Given the description of an element on the screen output the (x, y) to click on. 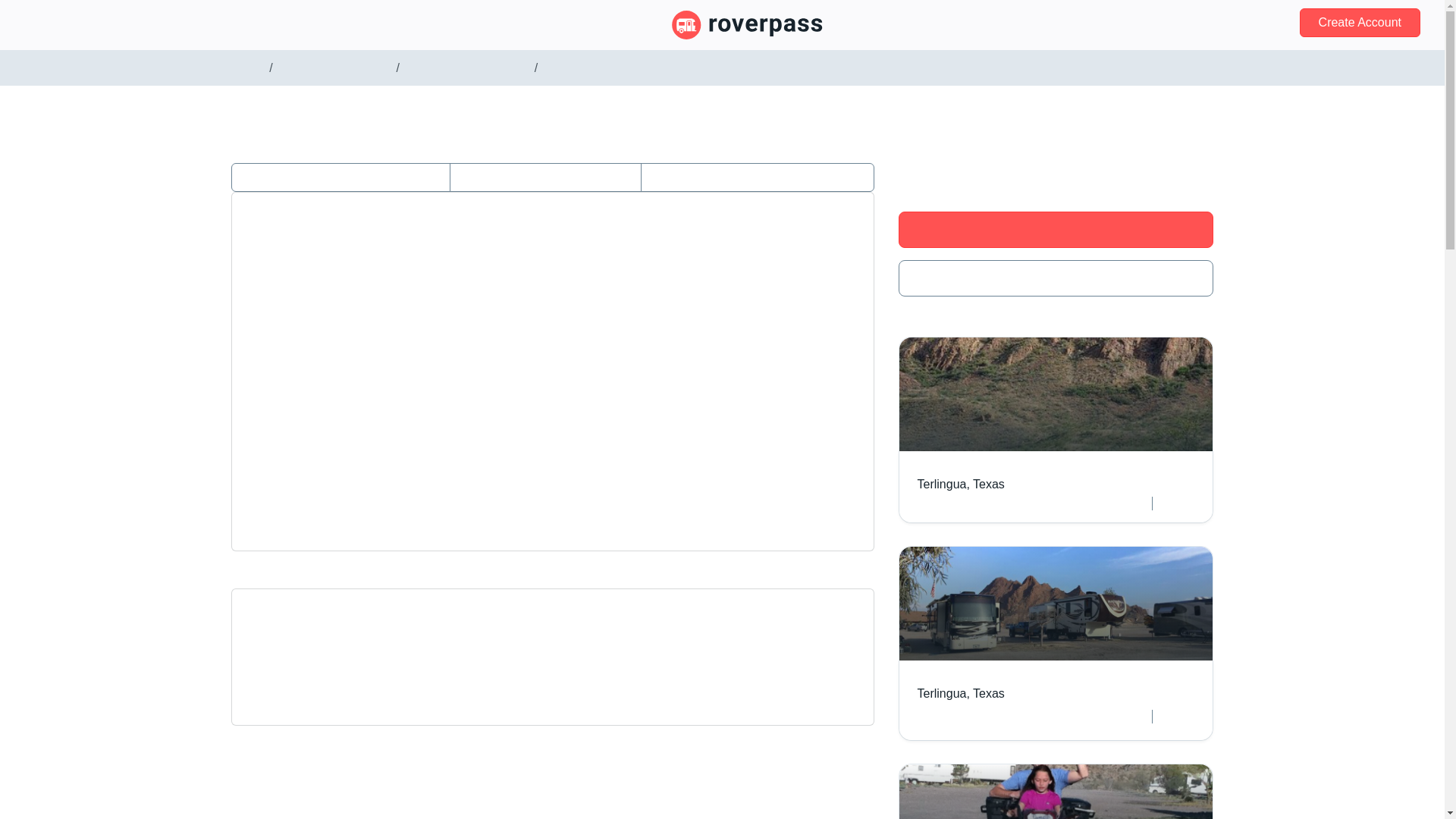
Texas Campgrounds (334, 67)
Claim my Campground (1055, 229)
, Redford, TX, (552, 264)
List My Campground (170, 24)
Campground Management Solutions (338, 24)
Redford Campgrounds (467, 67)
Overview (339, 176)
Owner Log In (66, 24)
Traveler Log In (1209, 23)
